Given the description of an element on the screen output the (x, y) to click on. 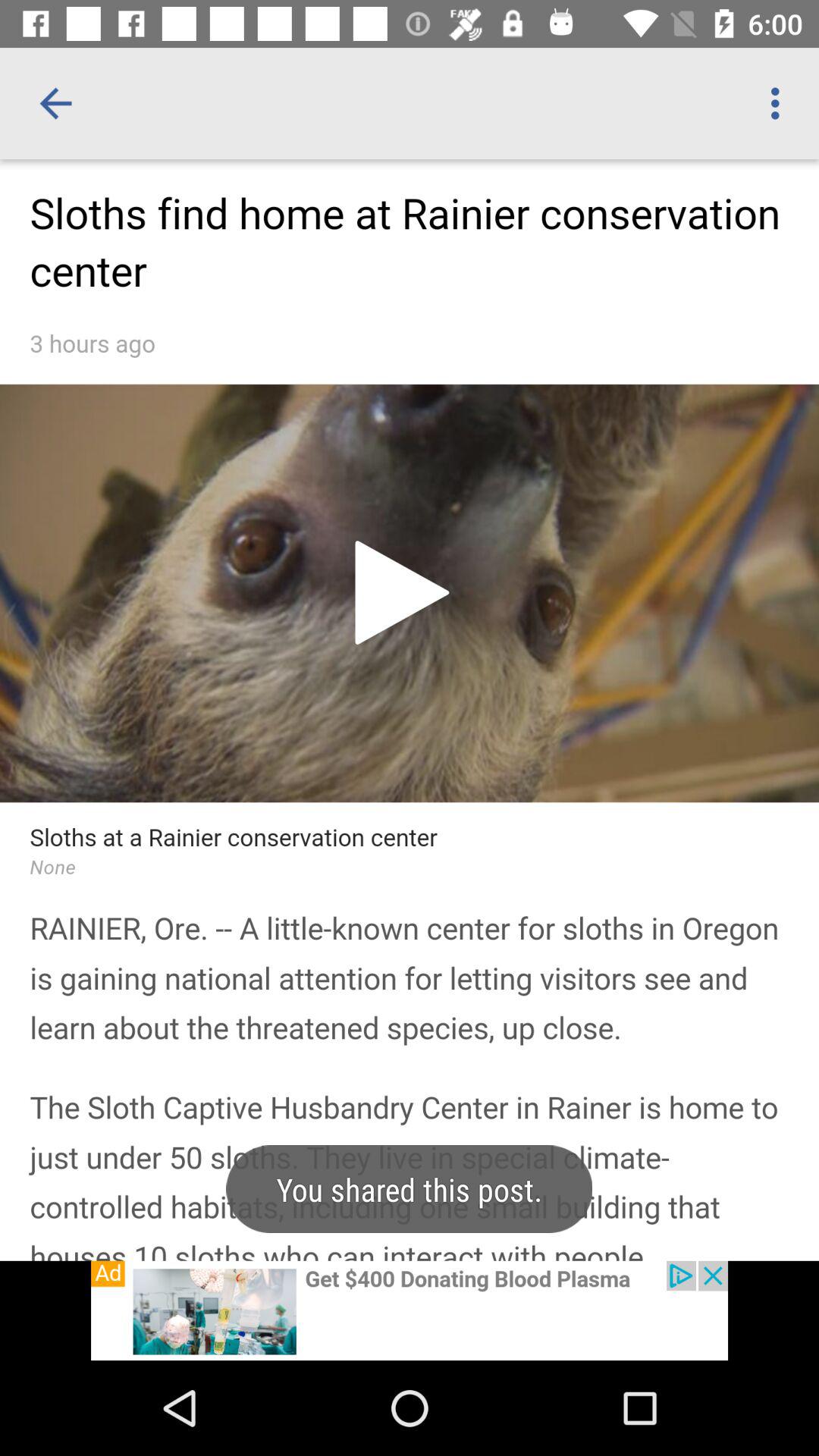
go to advertisement (409, 1310)
